Given the description of an element on the screen output the (x, y) to click on. 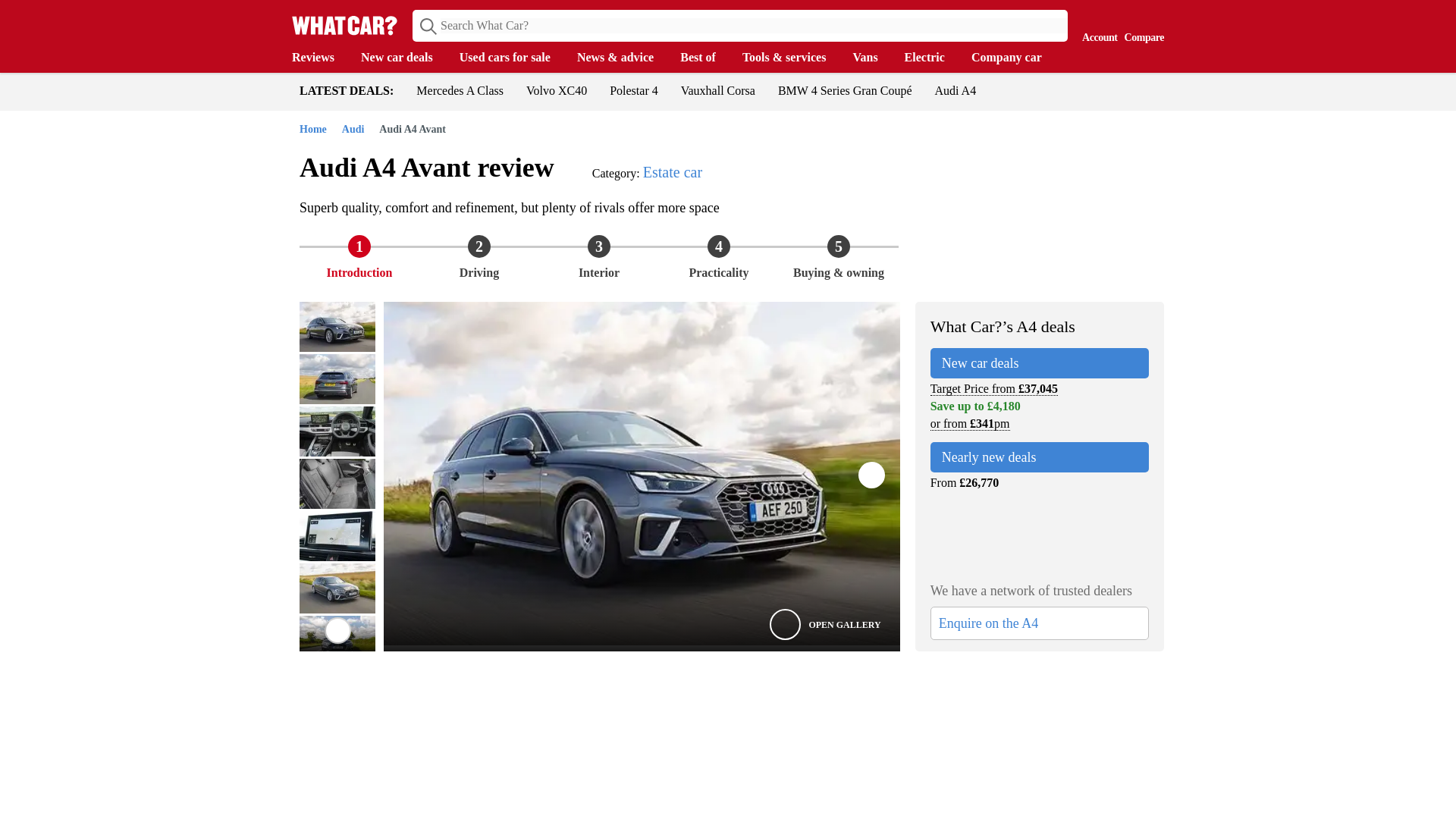
Account (1095, 24)
Company car (1014, 57)
Electric (931, 57)
New car deals (404, 57)
Compare (1140, 24)
WhatCar? logo (344, 25)
Vans (871, 57)
Used cars for sale (513, 57)
Reviews (320, 57)
Best of (704, 57)
